Given the description of an element on the screen output the (x, y) to click on. 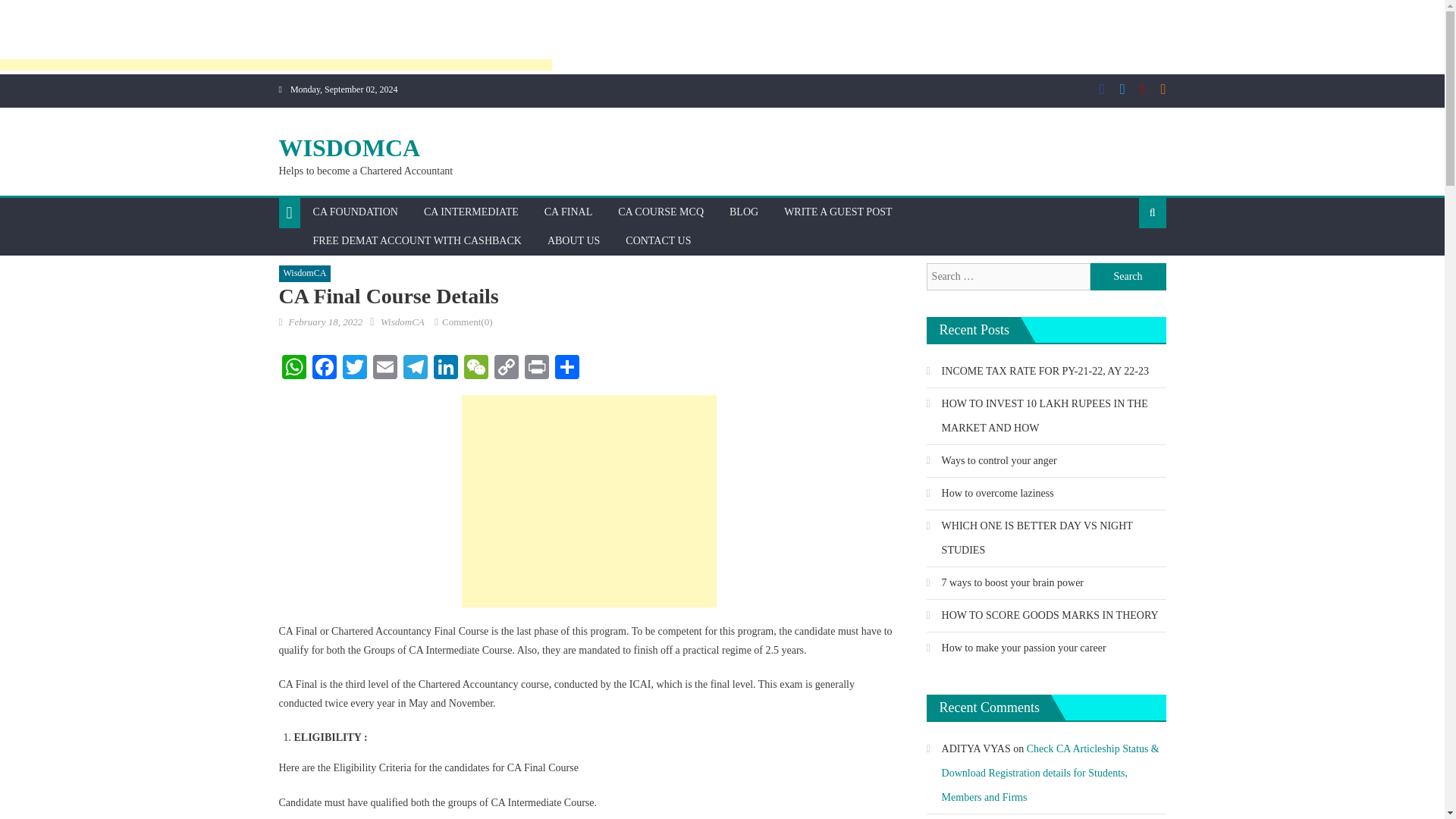
CA COURSE MCQ (660, 212)
LinkedIn (445, 368)
WisdomCA (402, 321)
Copy Link (506, 368)
Advertisement (588, 500)
CONTACT US (657, 240)
February 18, 2022 (325, 321)
WRITE A GUEST POST (837, 212)
WisdomCA (305, 273)
BLOG (743, 212)
